Given the description of an element on the screen output the (x, y) to click on. 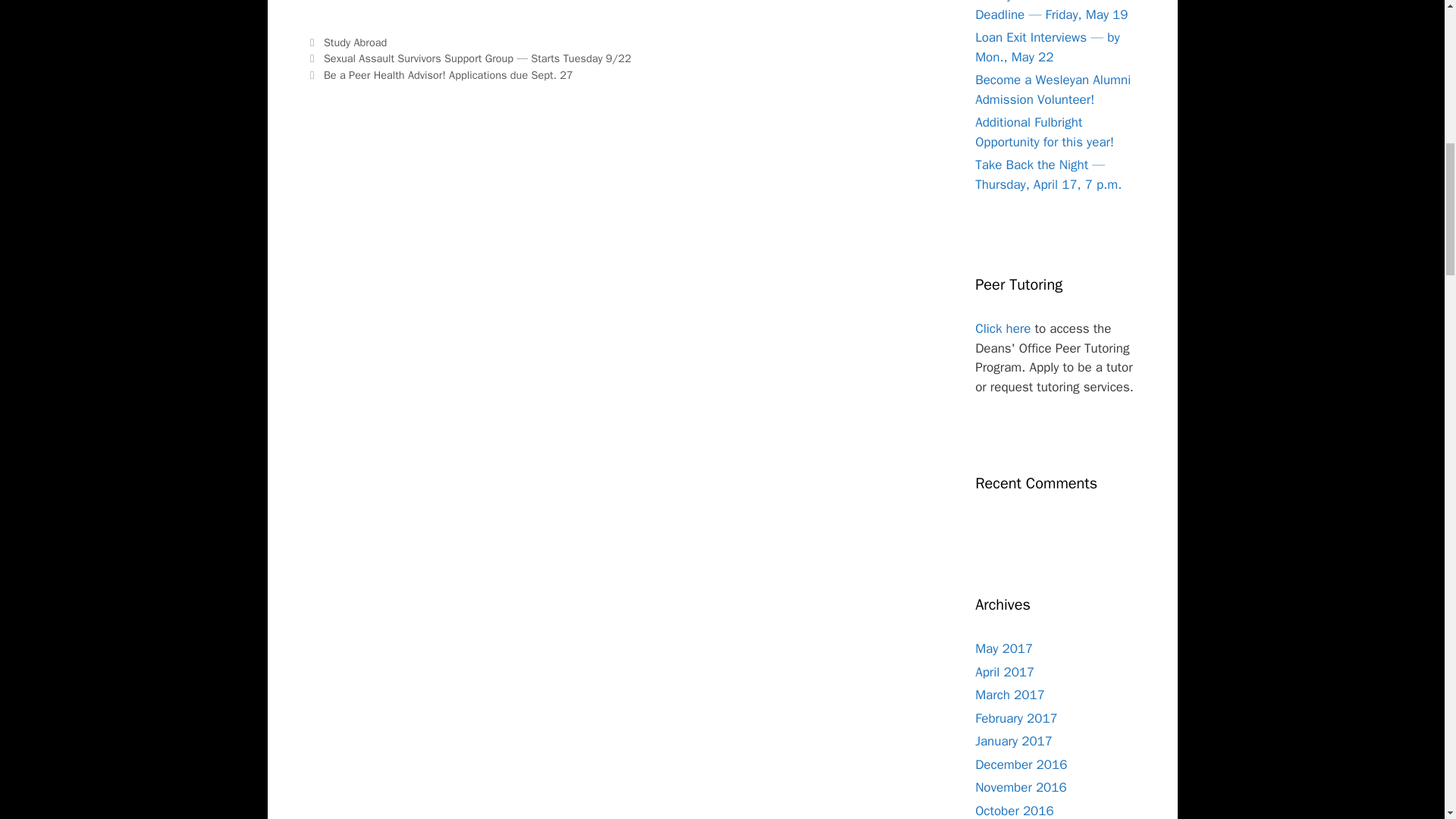
Become a Wesleyan Alumni Admission Volunteer! (1053, 89)
April 2017 (1004, 672)
Additional Fulbright Opportunity for this year! (1044, 131)
Be a Peer Health Advisor! Applications due Sept. 27 (448, 74)
May 2017 (1003, 648)
Study Abroad (355, 42)
Click here (1002, 328)
